Given the description of an element on the screen output the (x, y) to click on. 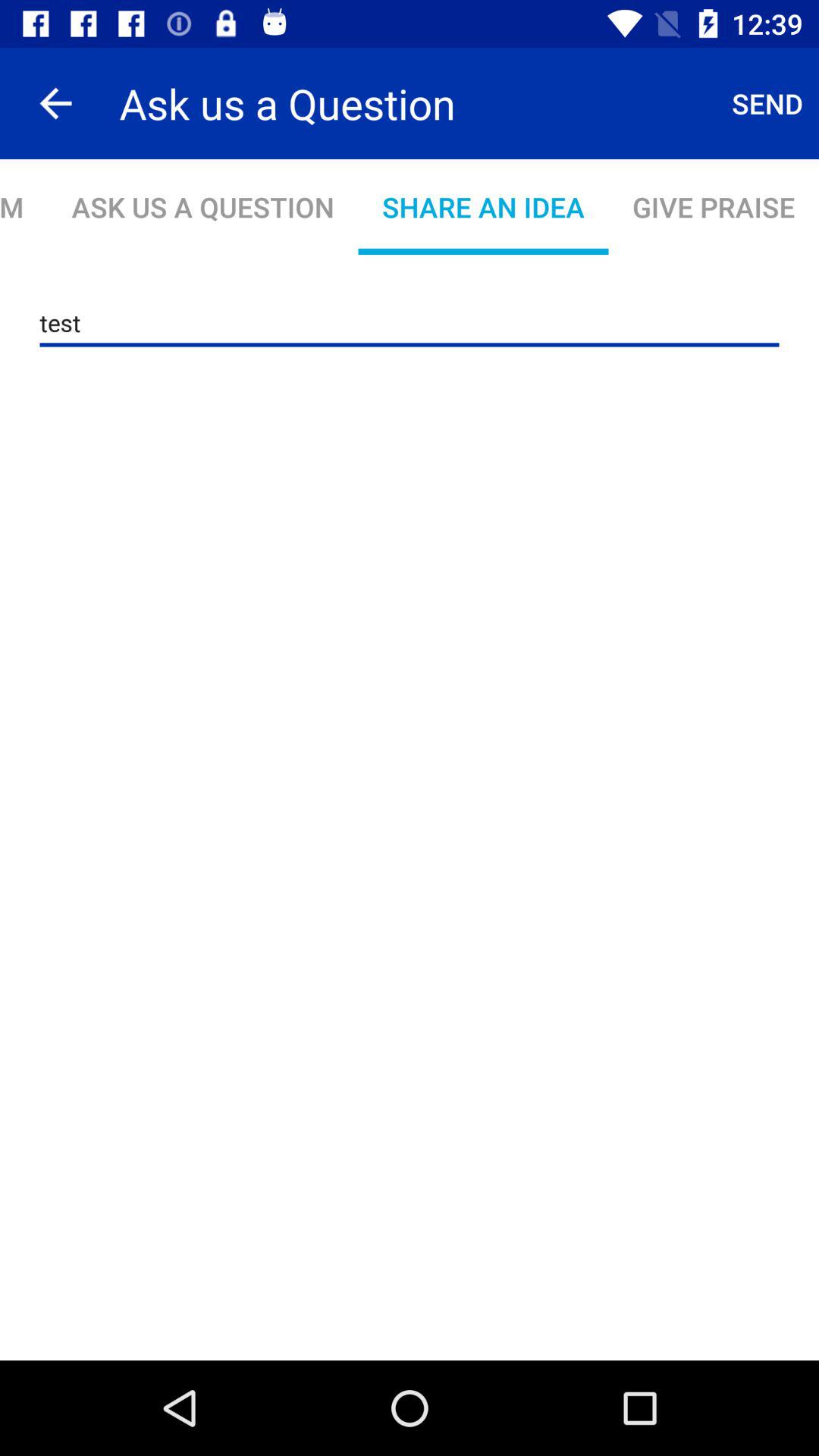
tap the item to the left of ask us a app (55, 103)
